Given the description of an element on the screen output the (x, y) to click on. 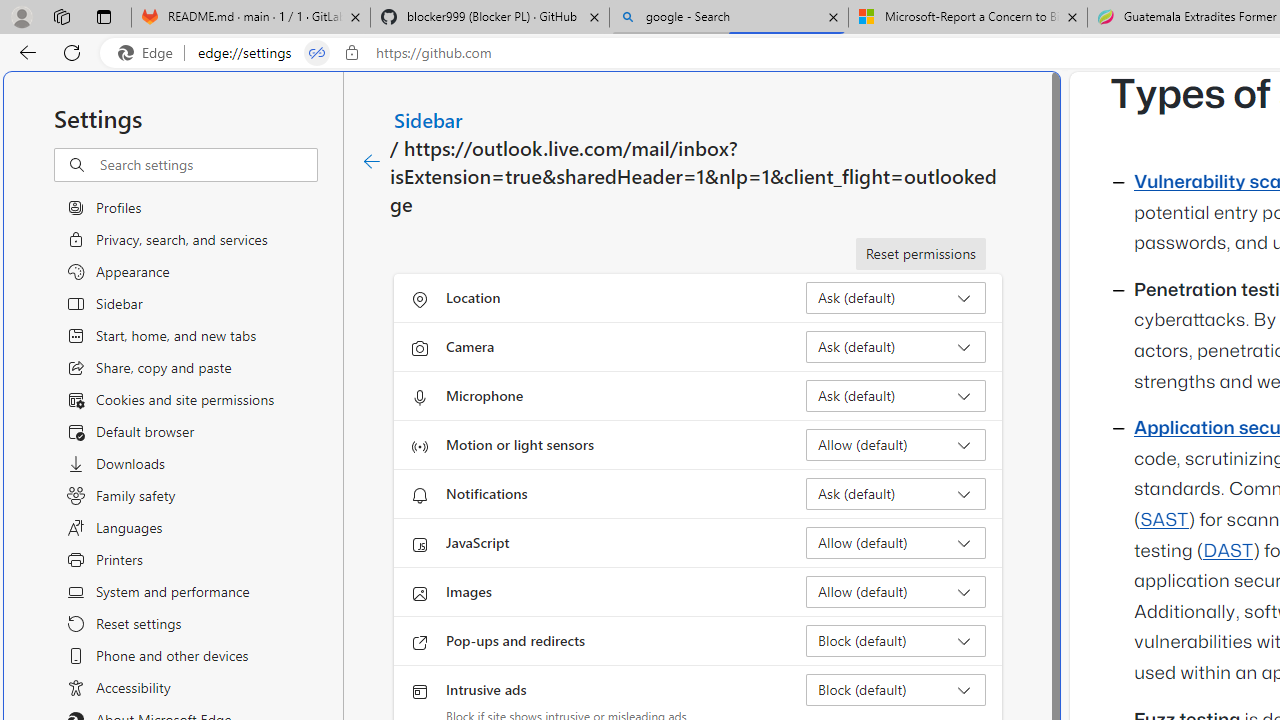
JavaScript Allow (default) (895, 542)
Images Allow (default) (895, 591)
Notifications Ask (default) (895, 493)
SAST (1164, 520)
Search settings (207, 165)
Intrusive ads Block (default) (895, 689)
Class: c01182 (371, 161)
Location Ask (default) (895, 297)
Edge (150, 53)
Pop-ups and redirects Block (default) (895, 640)
